Given the description of an element on the screen output the (x, y) to click on. 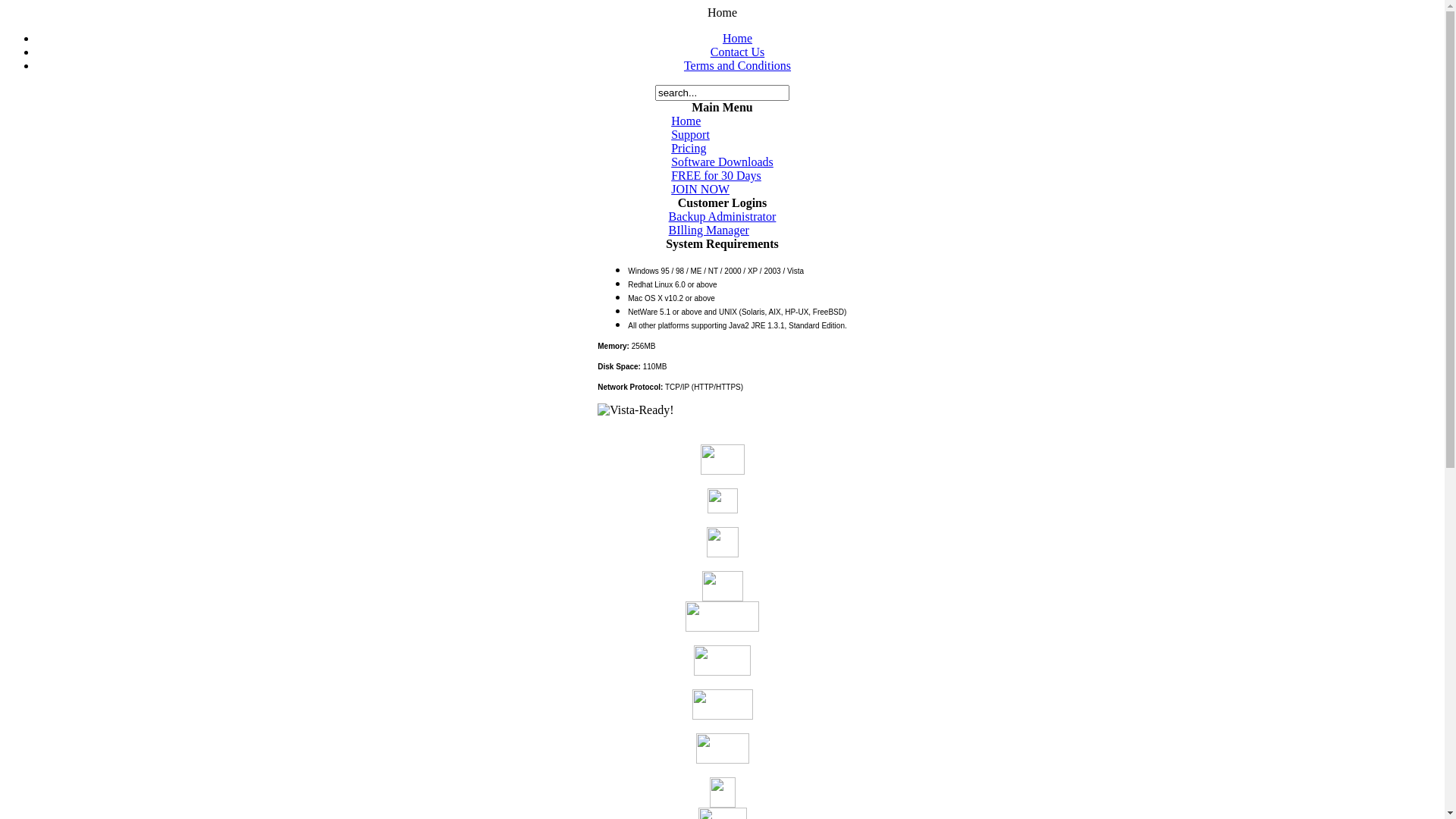
JOIN NOW Element type: text (700, 188)
Support Element type: text (690, 134)
Netware Element type: hover (721, 704)
Oracle Element type: hover (722, 616)
Linux Element type: hover (721, 500)
Home Element type: text (685, 120)
Lotus Notes Element type: hover (722, 748)
FREE for 30 Days Element type: text (716, 175)
Software Downloads Element type: text (722, 161)
MySQL Element type: hover (721, 660)
Microsoft Windows Element type: hover (722, 459)
Solaris Element type: hover (722, 586)
Home Element type: text (737, 37)
Java Element type: hover (722, 792)
Terms and Conditions Element type: text (737, 65)
BIlling Manager Element type: text (708, 229)
Contact Us Element type: text (737, 51)
Backup Administrator Element type: text (722, 216)
Pricing Element type: text (688, 147)
Apple Mac OS Element type: hover (722, 542)
